Given the description of an element on the screen output the (x, y) to click on. 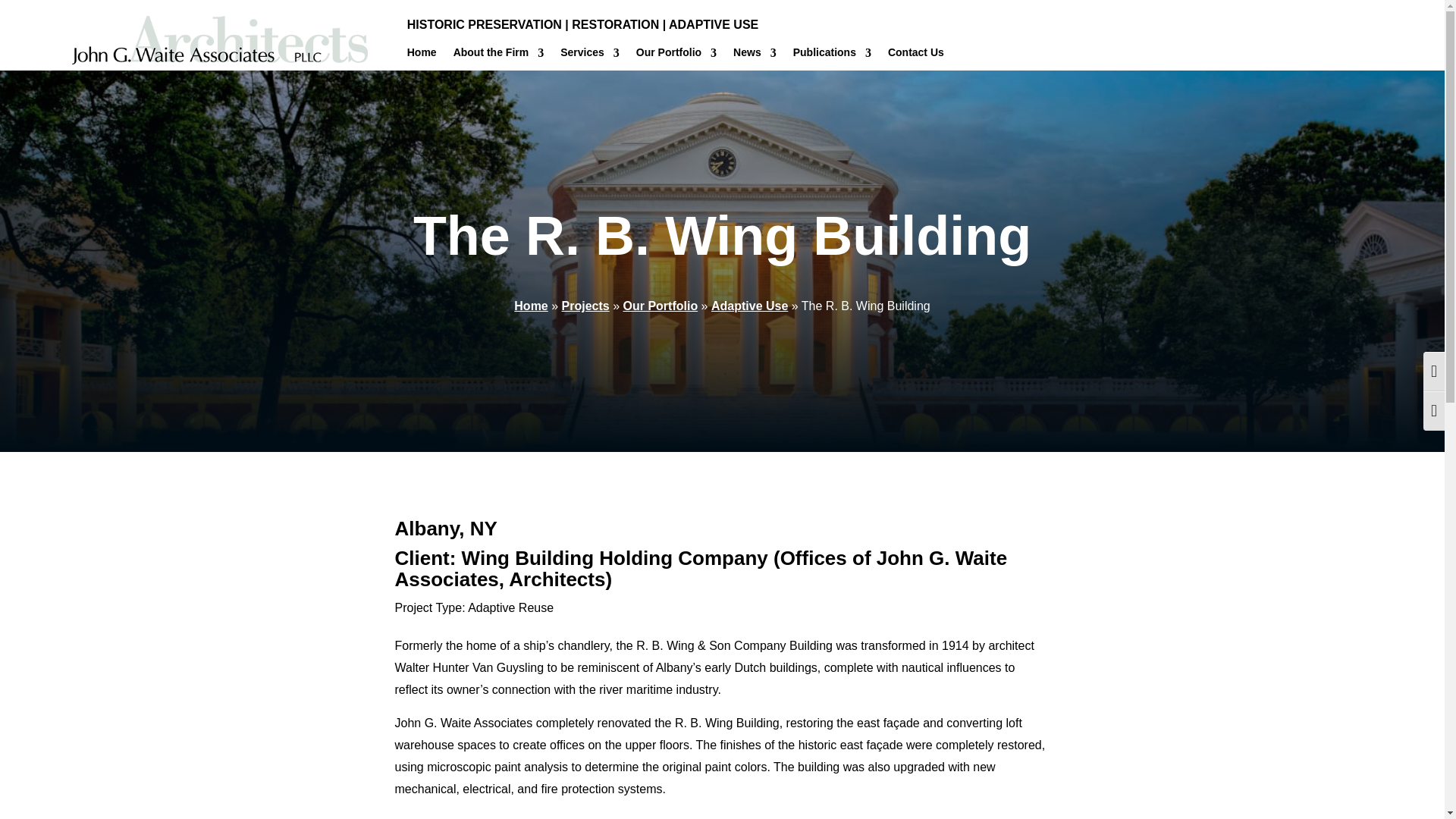
Home (421, 55)
Publications (831, 55)
Services (590, 55)
News (754, 55)
Contact Us (915, 55)
About the Firm (498, 55)
Our Portfolio (676, 55)
